Given the description of an element on the screen output the (x, y) to click on. 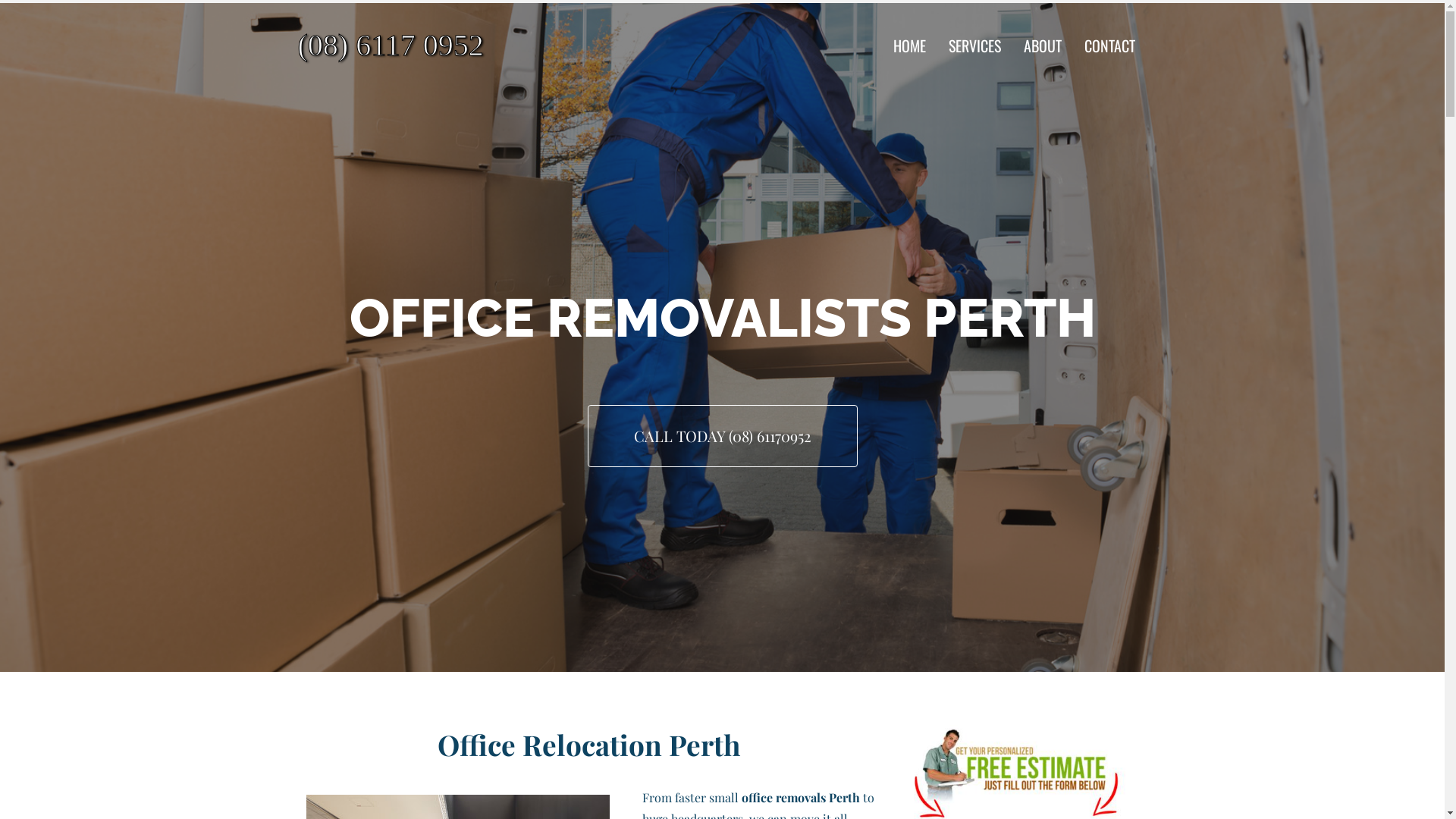
HOME Element type: text (909, 45)
(08) 6117 0952 Element type: text (432, 45)
CALL TODAY (08) 61170952 Element type: text (721, 435)
SERVICES Element type: text (974, 45)
CONTACT Element type: text (1109, 45)
ABOUT Element type: text (1042, 45)
